Given the description of an element on the screen output the (x, y) to click on. 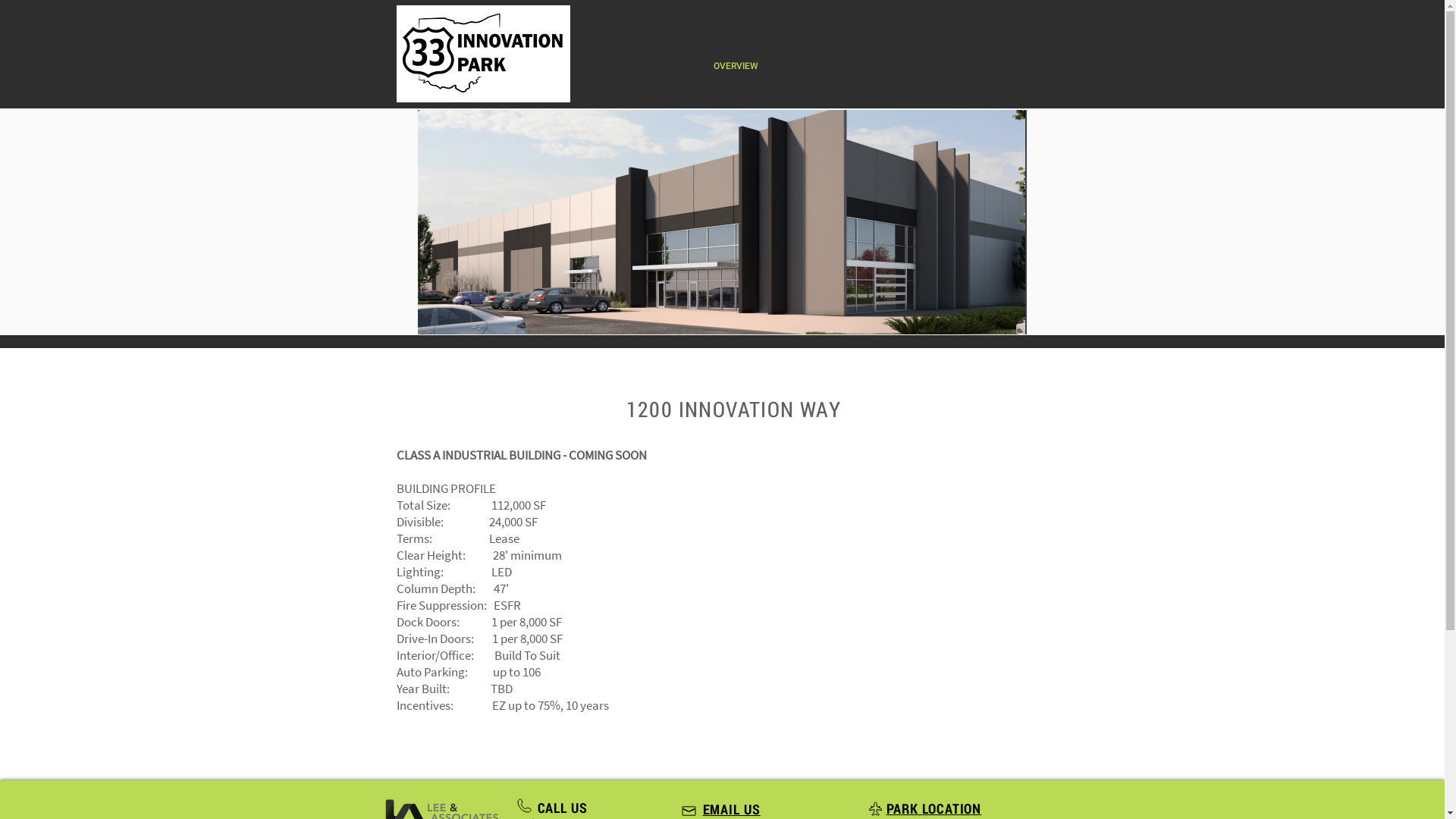
SERVICES Element type: text (973, 65)
MAPS/REPORTS Element type: text (823, 65)
PARK LOCATION Element type: text (933, 808)
OVERVIEW Element type: text (735, 65)
DESIGN Element type: text (905, 65)
CONTACT Element type: text (1046, 65)
HOME Element type: text (667, 65)
EMAIL US Element type: text (730, 809)
